Given the description of an element on the screen output the (x, y) to click on. 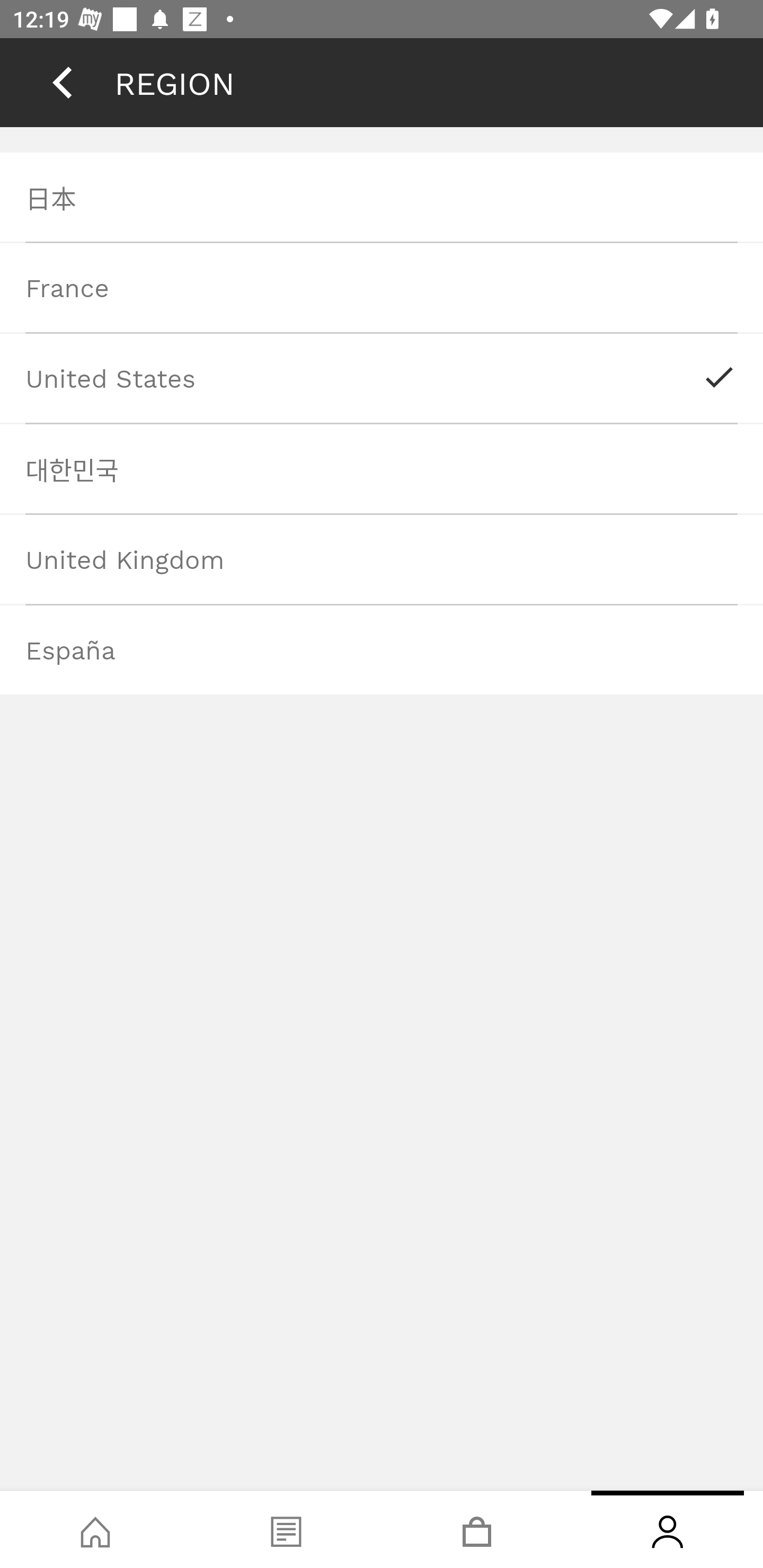
LOCATION, back (61, 82)
日本 (381, 196)
France (381, 287)
United States (381, 378)
대한민국 (381, 468)
United Kingdom (381, 558)
España (381, 649)
Shop, tab, 1 of 4 (95, 1529)
Blog, tab, 2 of 4 (285, 1529)
Basket, tab, 3 of 4 (476, 1529)
Account, tab, 4 of 4 (667, 1529)
